Given the description of an element on the screen output the (x, y) to click on. 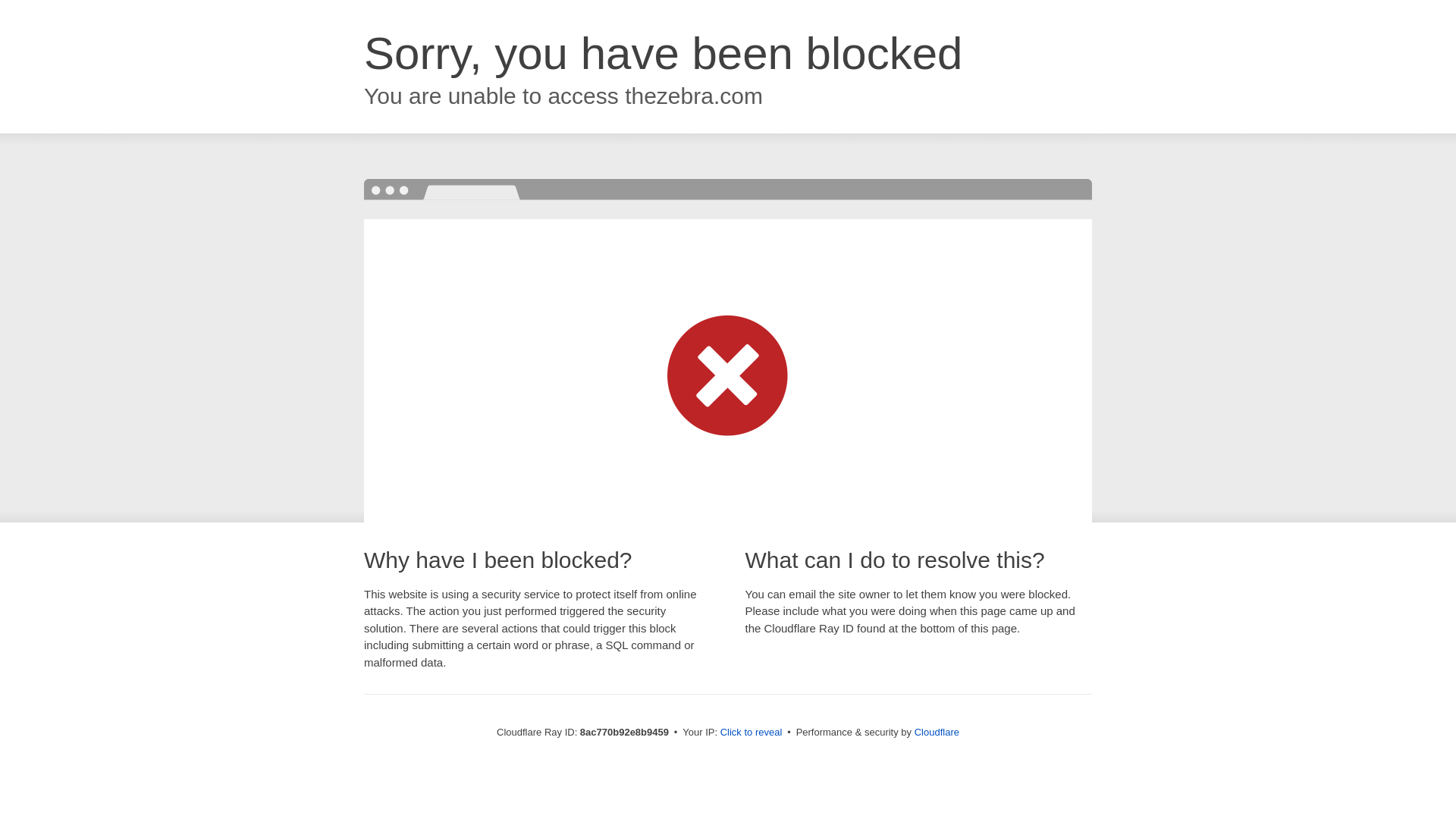
Cloudflare (936, 731)
Click to reveal (751, 732)
